Given the description of an element on the screen output the (x, y) to click on. 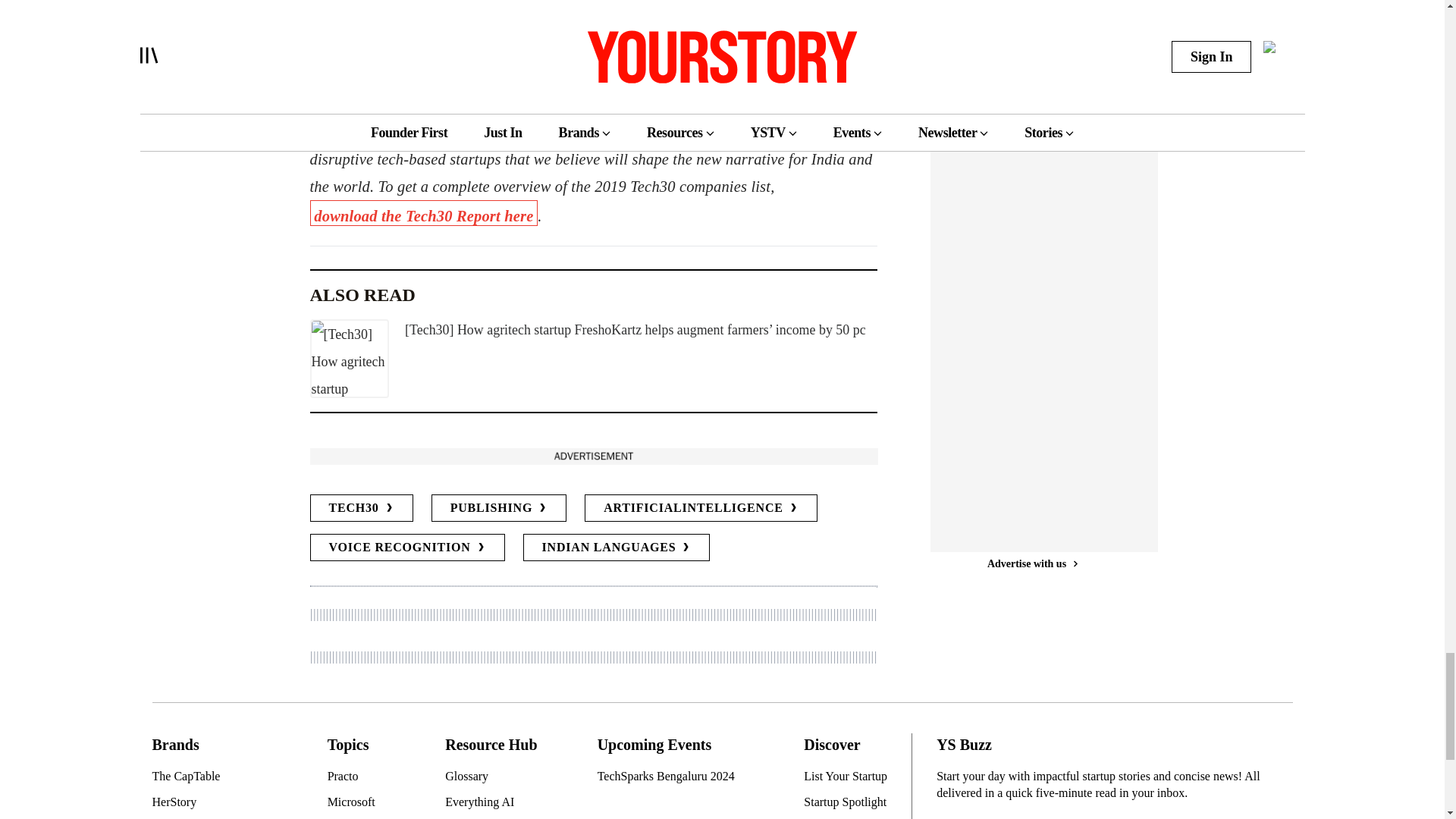
VOICE RECOGNITION (405, 547)
Advertise with us (592, 455)
ARTIFICIALINTELLIGENCE (700, 507)
download the Tech30 Report here (422, 212)
PUBLISHING (498, 507)
INDIAN LANGUAGES (616, 547)
TECH30 (360, 507)
